Given the description of an element on the screen output the (x, y) to click on. 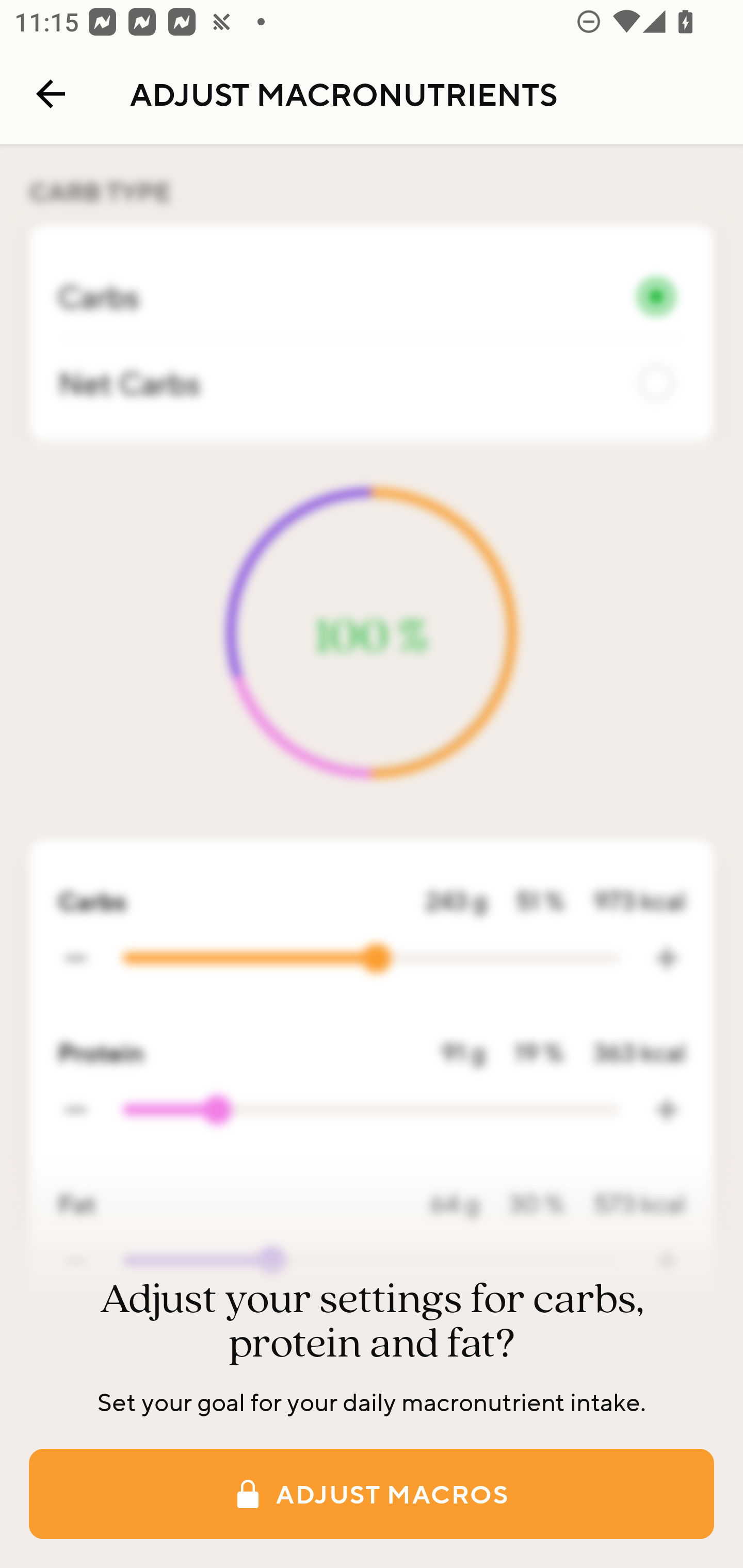
Navigate up (50, 93)
ADJUST MACROS (371, 1493)
